Given the description of an element on the screen output the (x, y) to click on. 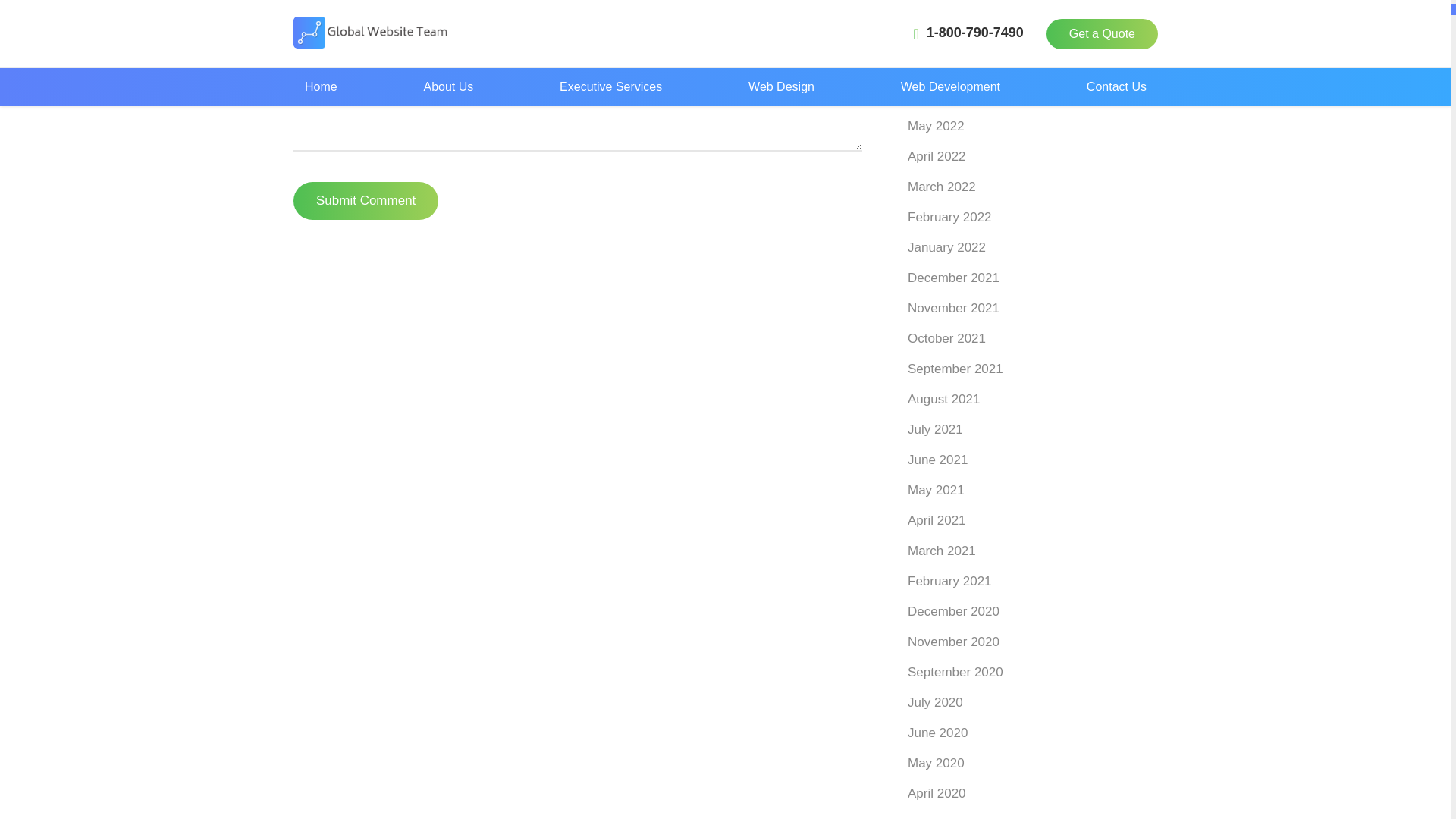
Submit Comment (366, 200)
yes (287, 29)
